Given the description of an element on the screen output the (x, y) to click on. 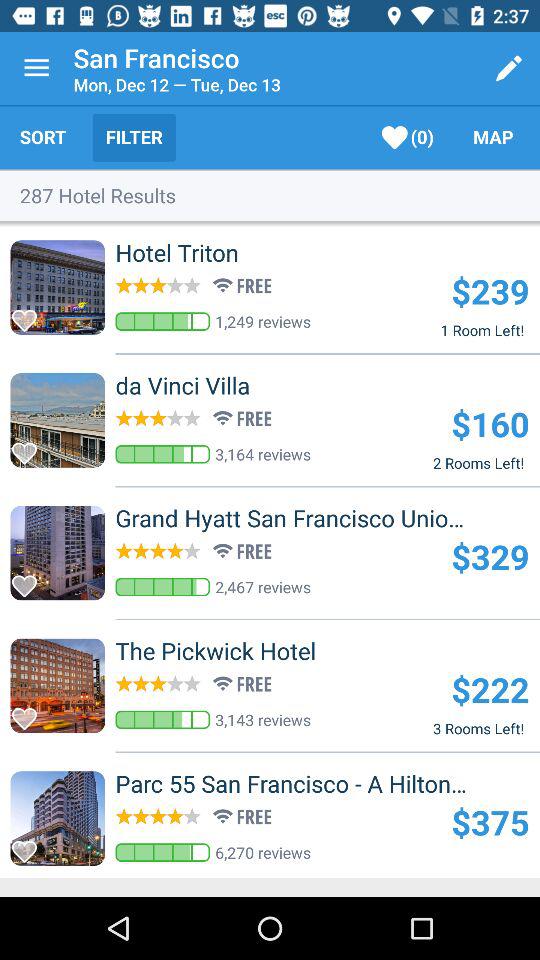
turn off the icon to the right of the 6,270 reviews icon (490, 821)
